Given the description of an element on the screen output the (x, y) to click on. 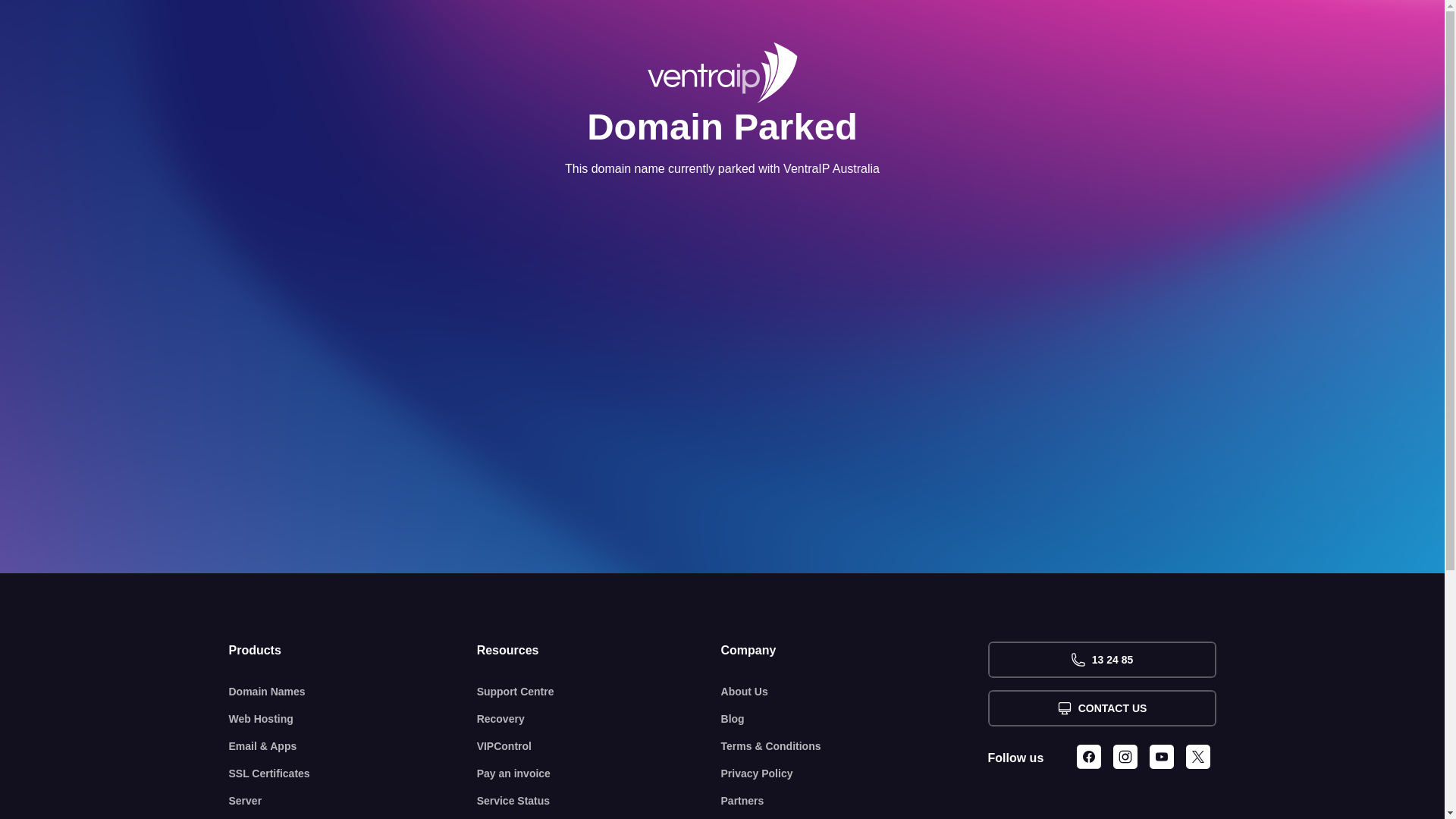
Pay an invoice Element type: text (598, 773)
Partners Element type: text (854, 800)
Service Status Element type: text (598, 800)
Recovery Element type: text (598, 718)
Support Centre Element type: text (598, 691)
Privacy Policy Element type: text (854, 773)
Terms & Conditions Element type: text (854, 745)
Blog Element type: text (854, 718)
Server Element type: text (352, 800)
Domain Names Element type: text (352, 691)
Email & Apps Element type: text (352, 745)
VIPControl Element type: text (598, 745)
Web Hosting Element type: text (352, 718)
About Us Element type: text (854, 691)
CONTACT US Element type: text (1101, 708)
SSL Certificates Element type: text (352, 773)
13 24 85 Element type: text (1101, 659)
